Given the description of an element on the screen output the (x, y) to click on. 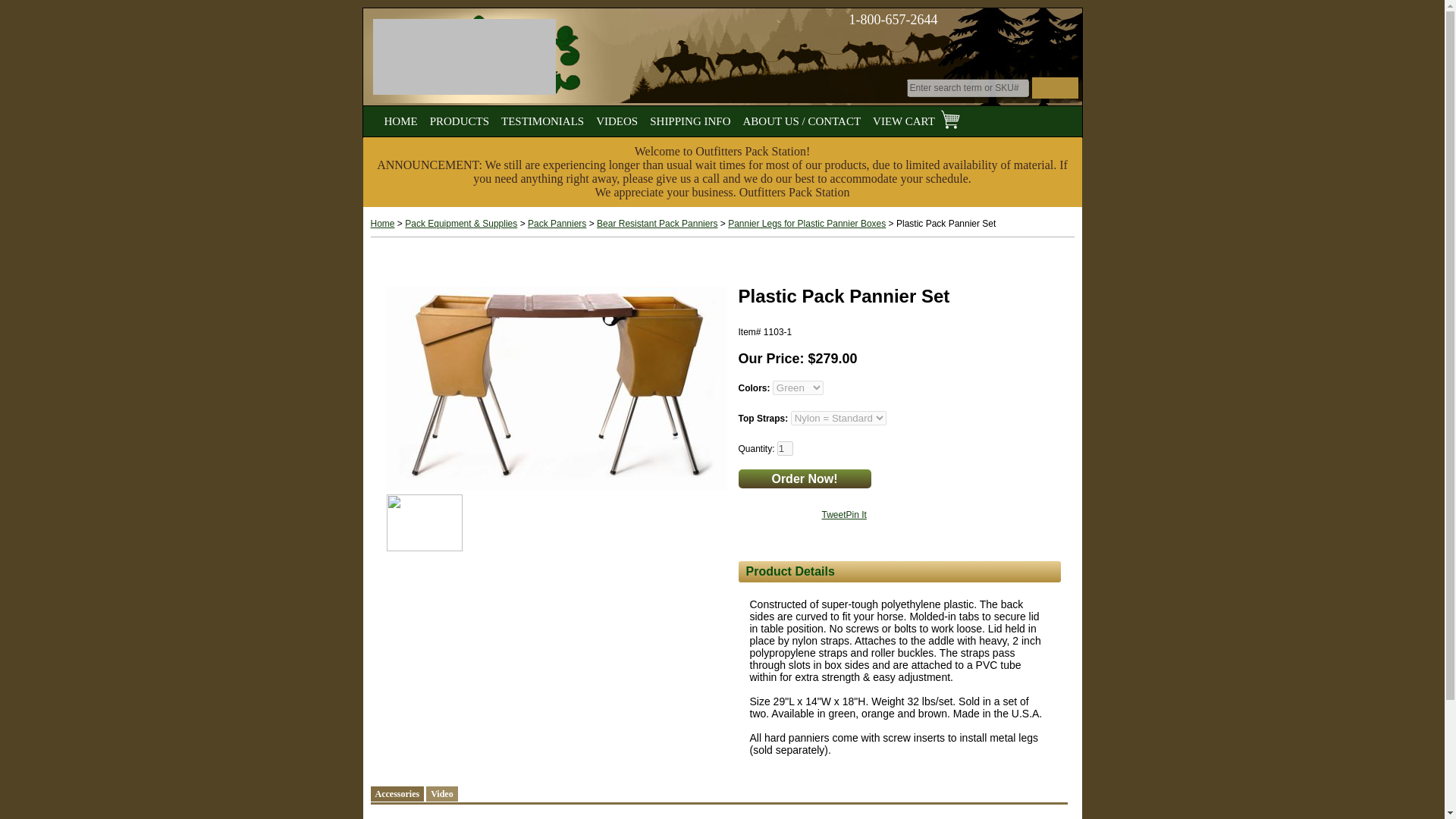
TESTIMONIALS (541, 117)
SHIPPING INFO (689, 117)
Order Now! (804, 478)
Pack Panniers (556, 223)
PRODUCTS (459, 117)
1 (785, 448)
VIDEOS (616, 117)
Home (381, 223)
HOME (400, 117)
VIEW CART (915, 117)
